Given the description of an element on the screen output the (x, y) to click on. 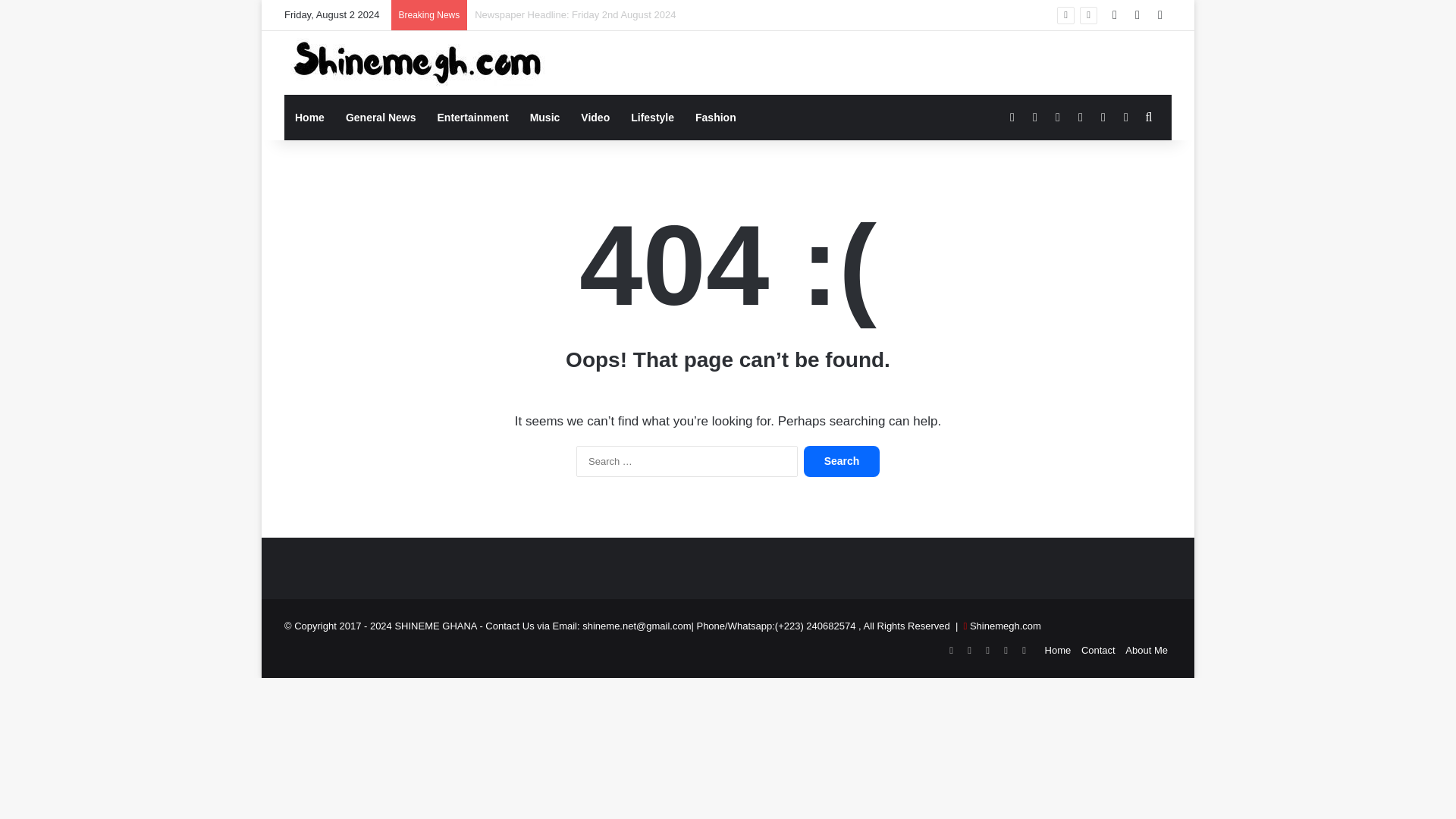
Video (595, 117)
YouTube (987, 650)
Contact (1098, 650)
TikTok (1023, 650)
Shinemegh.com (1005, 625)
Search (841, 460)
Shineme GH (416, 62)
Search (841, 460)
Newspaper Headline: Friday 2nd August 2024 (574, 14)
Search (841, 460)
Lifestyle (652, 117)
X (969, 650)
Entertainment (472, 117)
Home (1058, 650)
About Me (1146, 650)
